Given the description of an element on the screen output the (x, y) to click on. 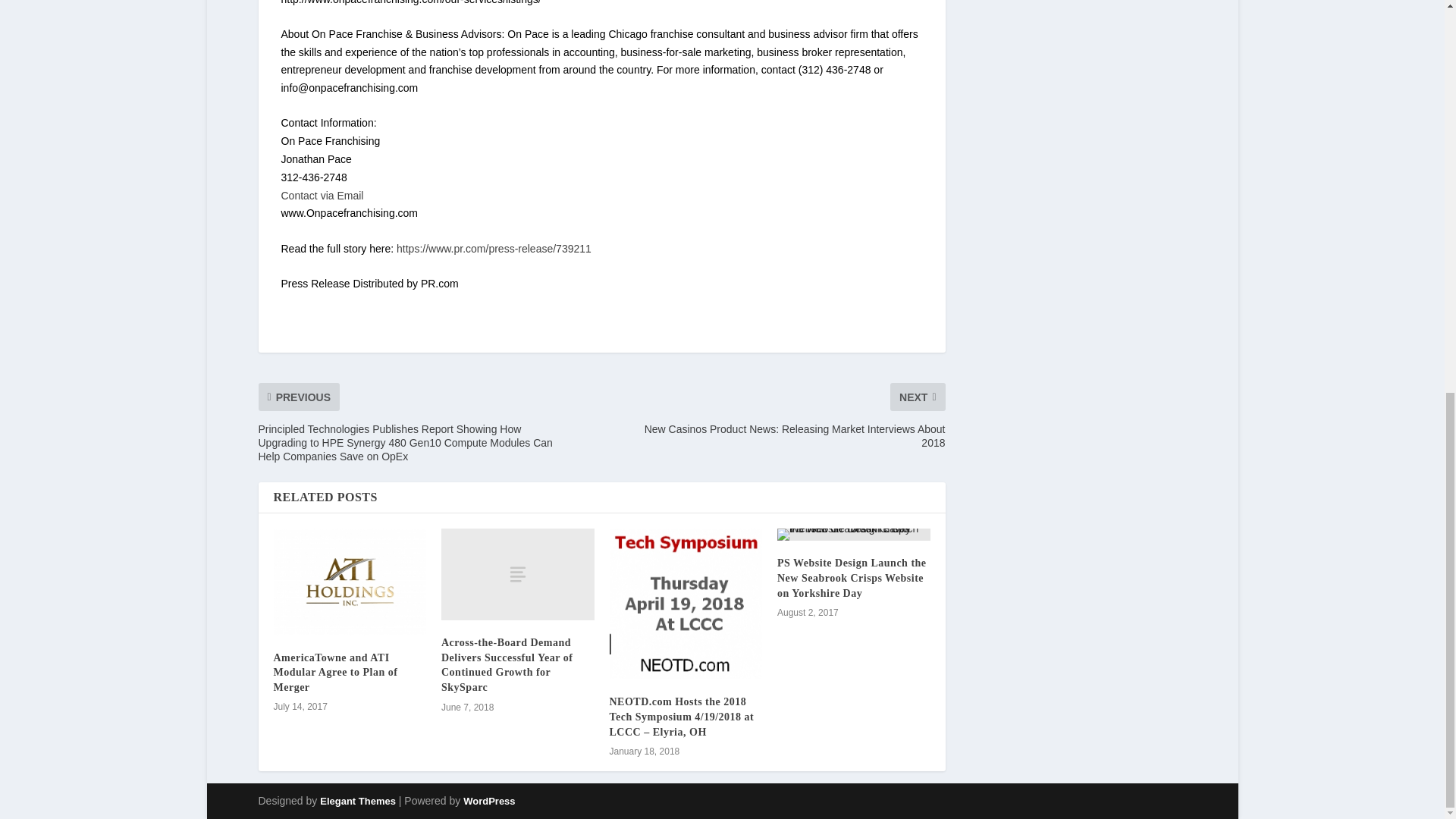
AmericaTowne and ATI Modular Agree to Plan of Merger (349, 581)
Contact via Email (321, 195)
AmericaTowne and ATI Modular Agree to Plan of Merger (335, 671)
Premium WordPress Themes (358, 800)
